Given the description of an element on the screen output the (x, y) to click on. 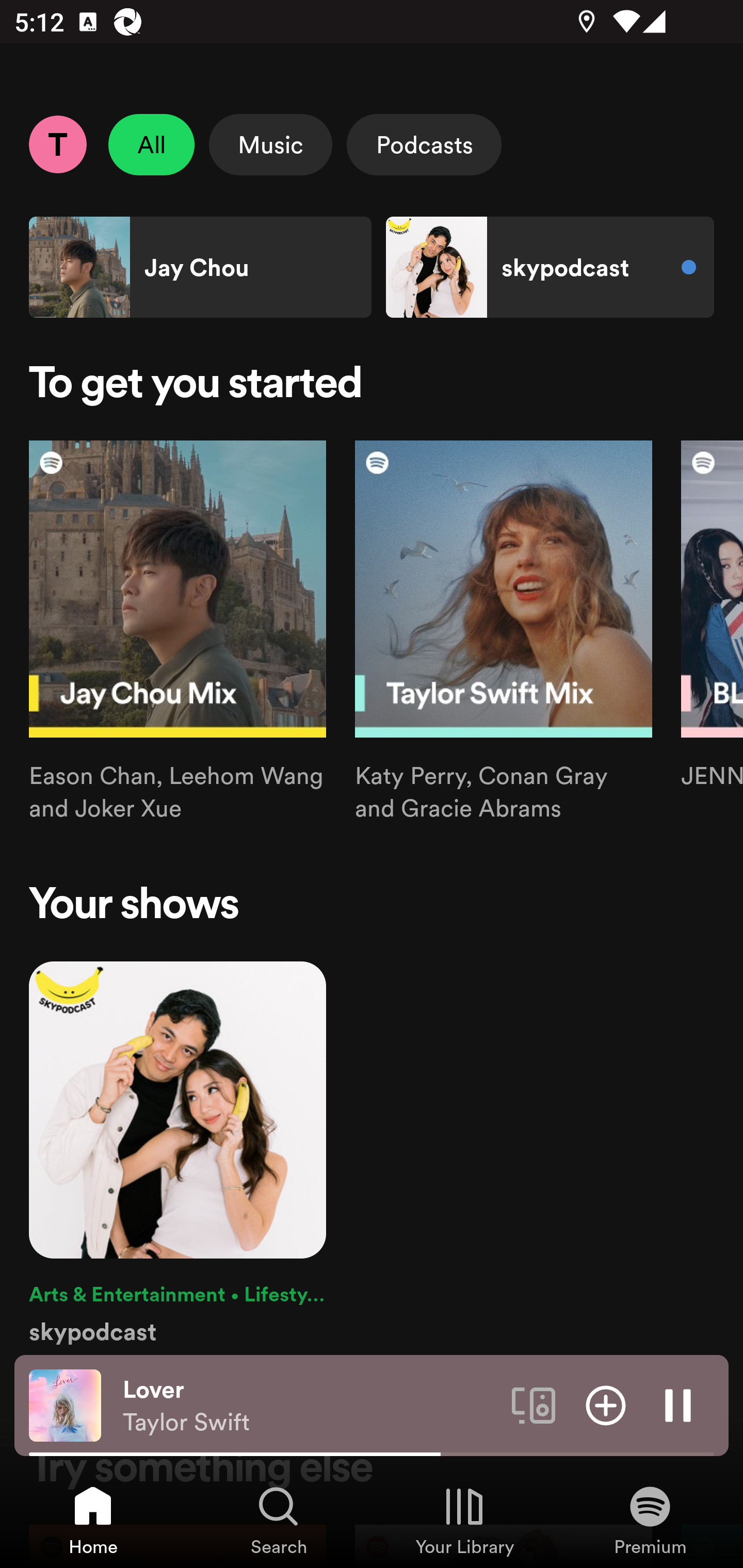
Profile (57, 144)
All Unselect All (151, 144)
Music Select Music (270, 144)
Podcasts Select Podcasts (423, 144)
Jay Chou Shortcut Jay Chou (199, 267)
skypodcast Shortcut skypodcast New content (549, 267)
Lover Taylor Swift (309, 1405)
The cover art of the currently playing track (64, 1404)
Connect to a device. Opens the devices menu (533, 1404)
Add item (605, 1404)
Pause (677, 1404)
Home, Tab 1 of 4 Home Home (92, 1519)
Search, Tab 2 of 4 Search Search (278, 1519)
Your Library, Tab 3 of 4 Your Library Your Library (464, 1519)
Premium, Tab 4 of 4 Premium Premium (650, 1519)
